Given the description of an element on the screen output the (x, y) to click on. 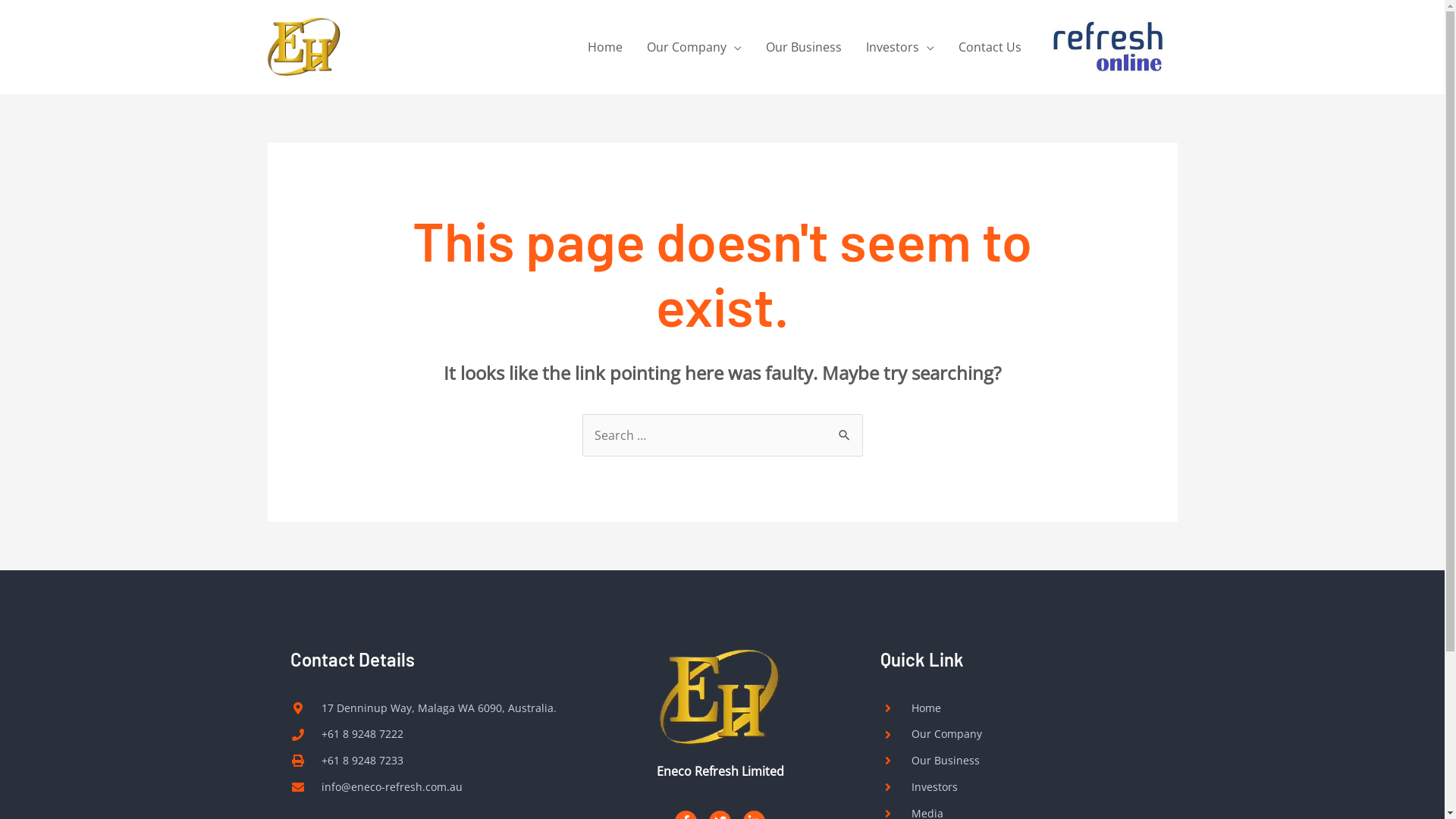
Search Element type: text (845, 429)
Home Element type: text (999, 708)
Our Business Element type: text (999, 760)
Investors Element type: text (999, 787)
Our Company Element type: text (999, 734)
Our Business Element type: text (803, 46)
Contact Us Element type: text (989, 46)
Investors Element type: text (899, 46)
Our Company Element type: text (693, 46)
Home Element type: text (603, 46)
